Given the description of an element on the screen output the (x, y) to click on. 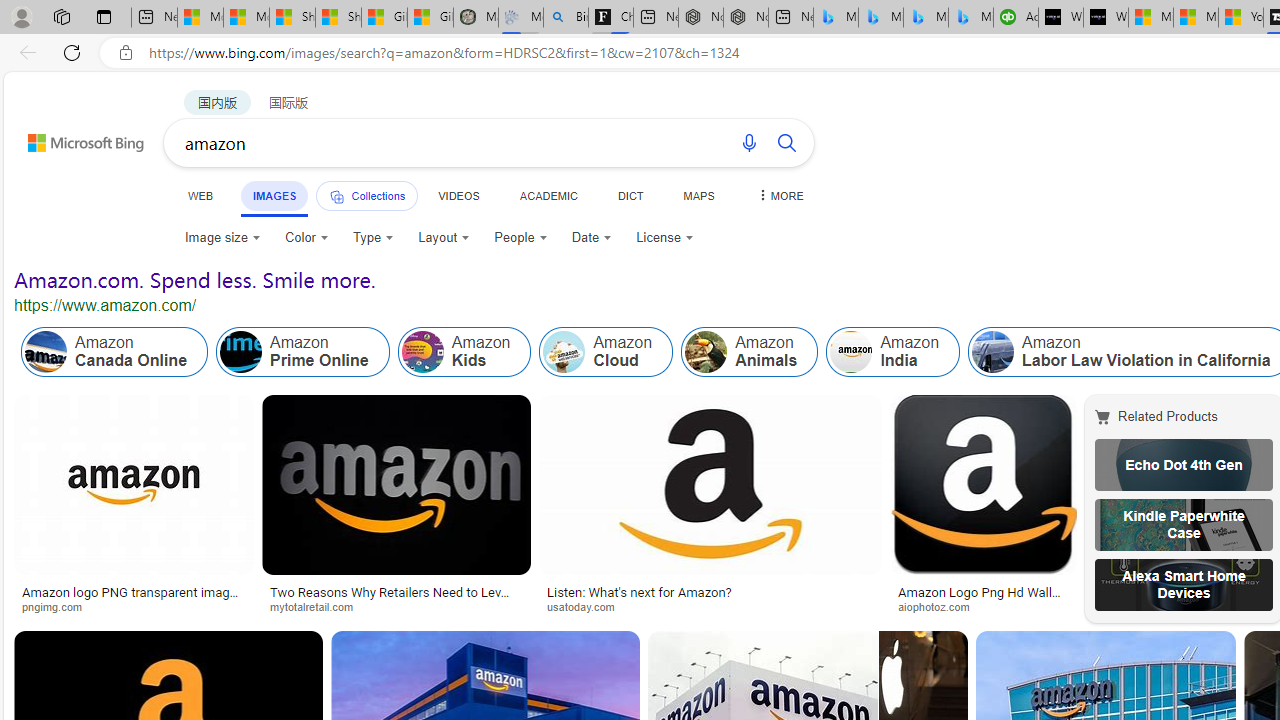
VIDEOS (458, 195)
mytotalretail.com (396, 606)
Amazon Canada Online (114, 351)
Amazon India (850, 351)
Microsoft Bing Travel - Stays in Bangkok, Bangkok, Thailand (880, 17)
Search button (786, 142)
usatoday.com (587, 605)
People (521, 237)
Listen: What's next for Amazon? (710, 592)
